Given the description of an element on the screen output the (x, y) to click on. 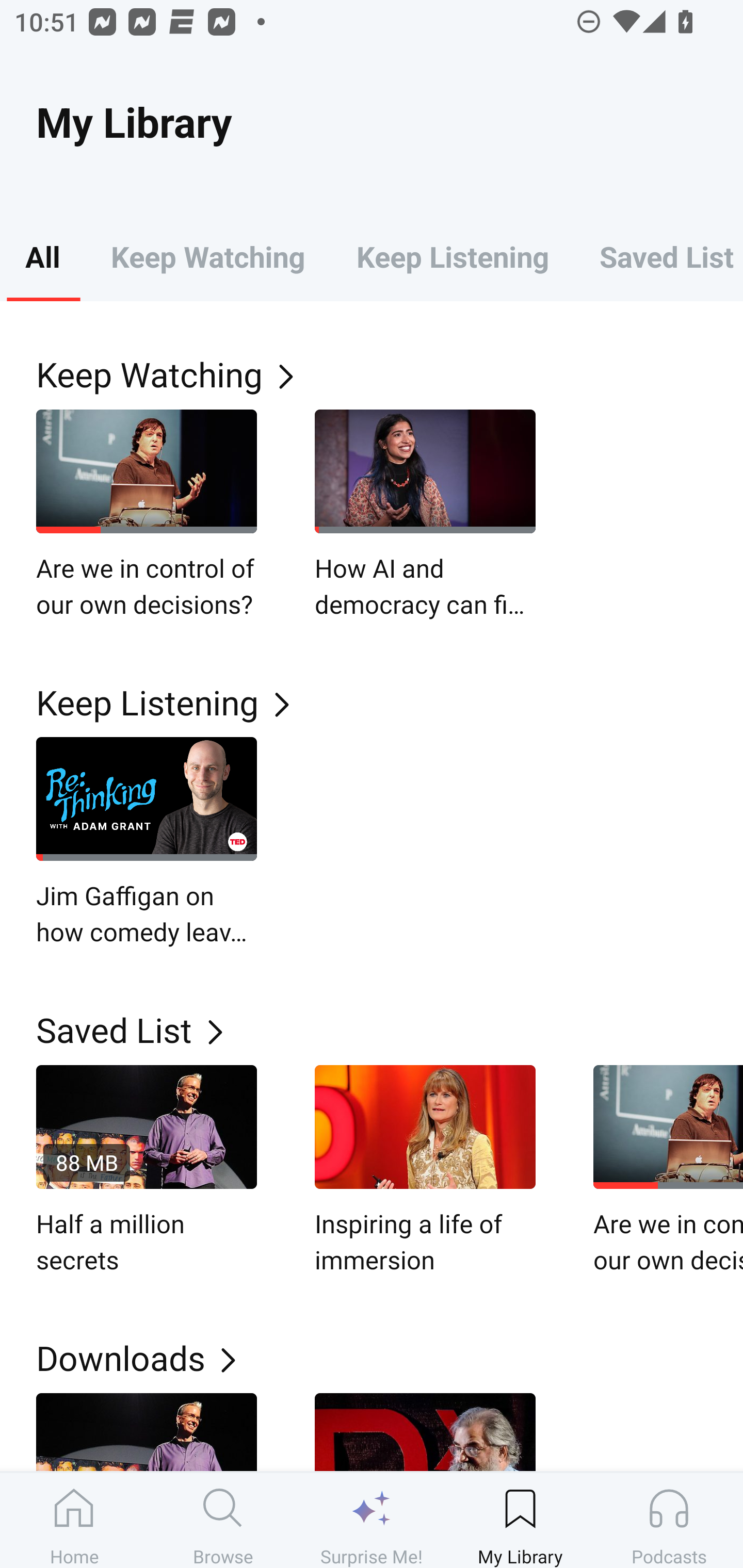
All (42, 256)
Keep Watching (207, 256)
Keep Listening (452, 256)
Saved List (658, 256)
Keep Watching (389, 373)
Are we in control of our own decisions? (146, 514)
How AI and democracy can fix each other (425, 514)
Keep Listening (389, 702)
Jim Gaffigan on how comedy leaves an aftertaste (146, 843)
Saved List (389, 1029)
88 MB Half a million secrets (146, 1170)
Inspiring a life of immersion (425, 1170)
Are we in control of our own decisions? (668, 1170)
Downloads (389, 1357)
Home (74, 1520)
Browse (222, 1520)
Surprise Me! (371, 1520)
My Library (519, 1520)
Podcasts (668, 1520)
